Given the description of an element on the screen output the (x, y) to click on. 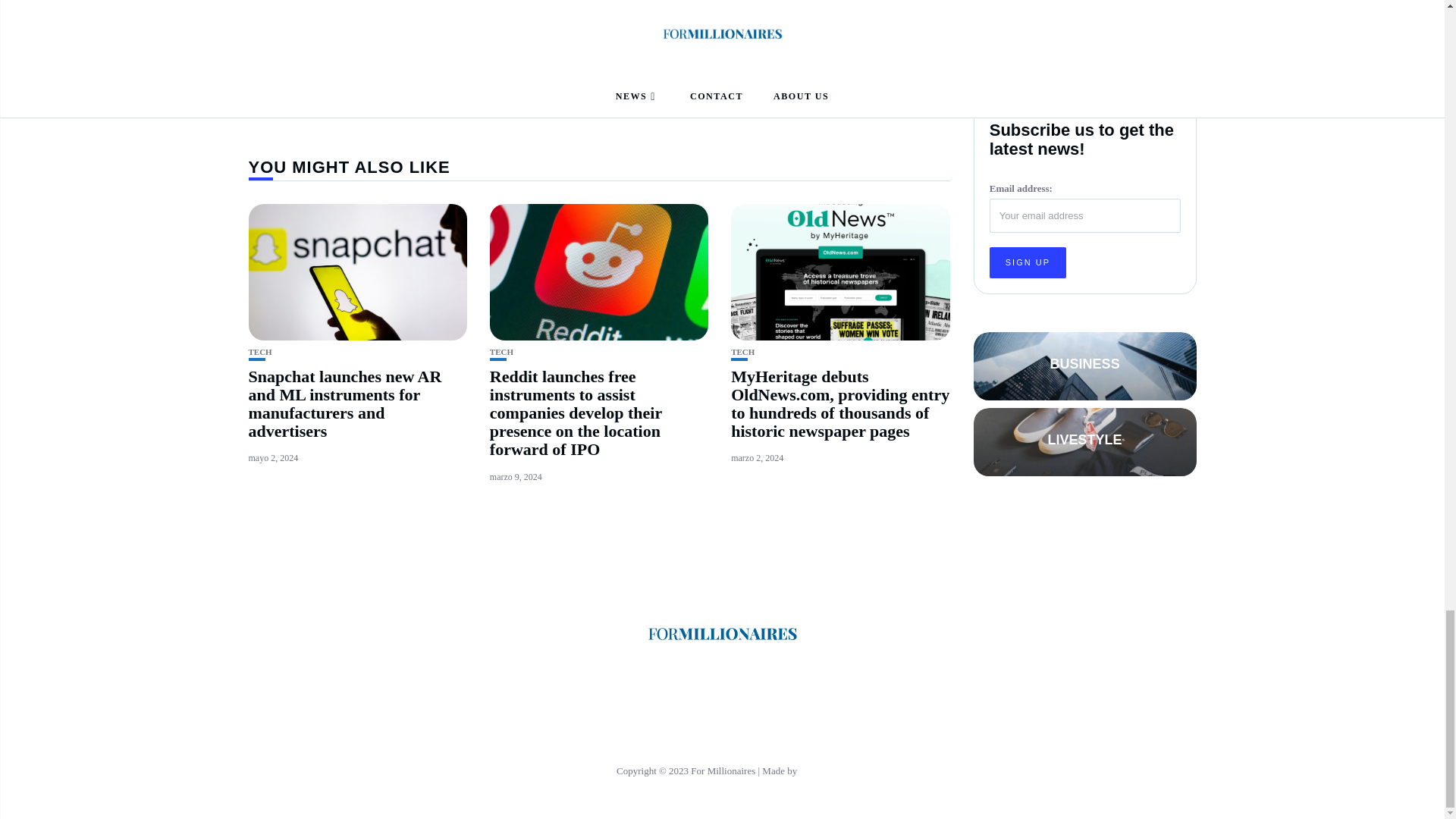
TECH (742, 352)
TECH (501, 352)
TECH (260, 352)
